Given the description of an element on the screen output the (x, y) to click on. 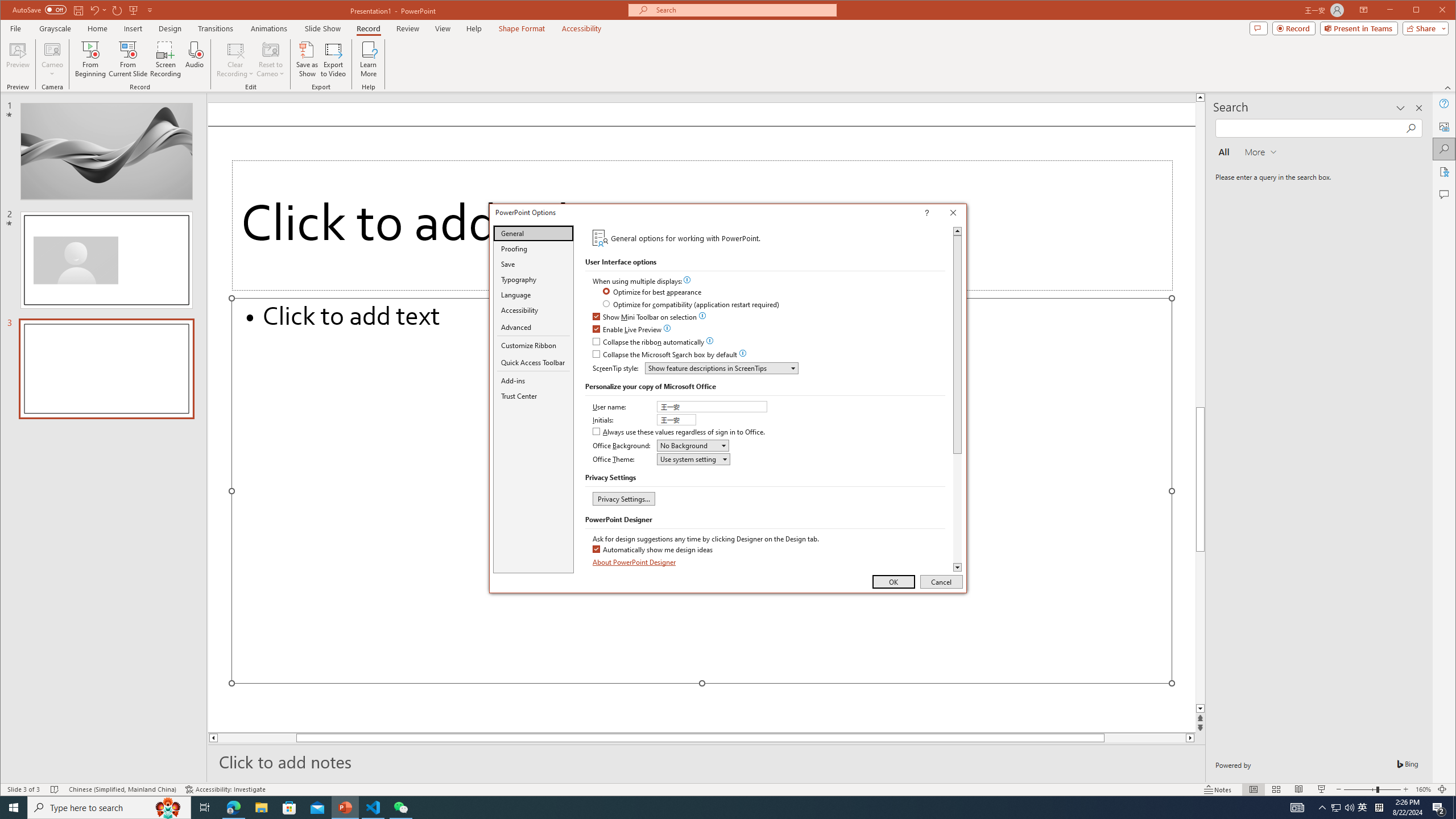
Screen Recording (165, 59)
About PowerPoint Designer (635, 561)
